Given the description of an element on the screen output the (x, y) to click on. 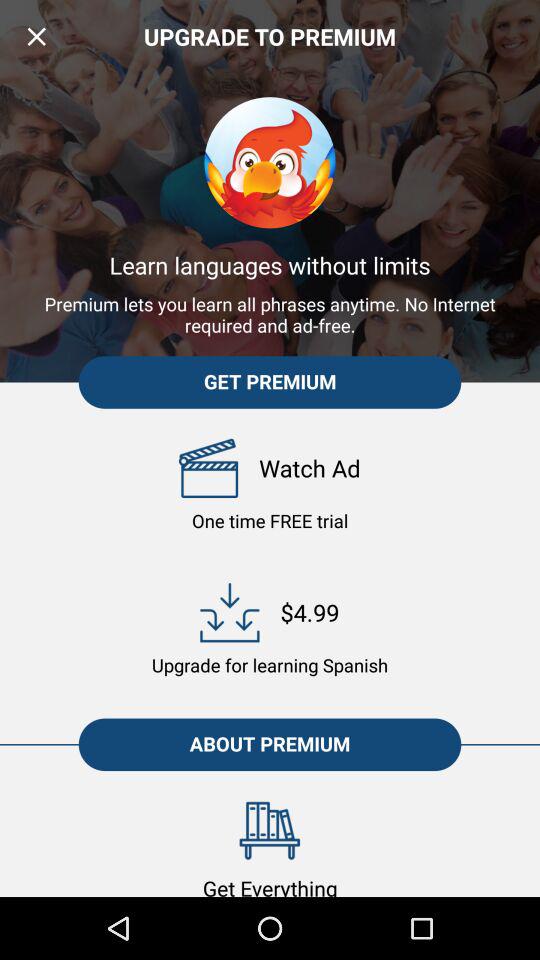
click on three downward arrows which are above upgrade for learning spanish (229, 612)
